Given the description of an element on the screen output the (x, y) to click on. 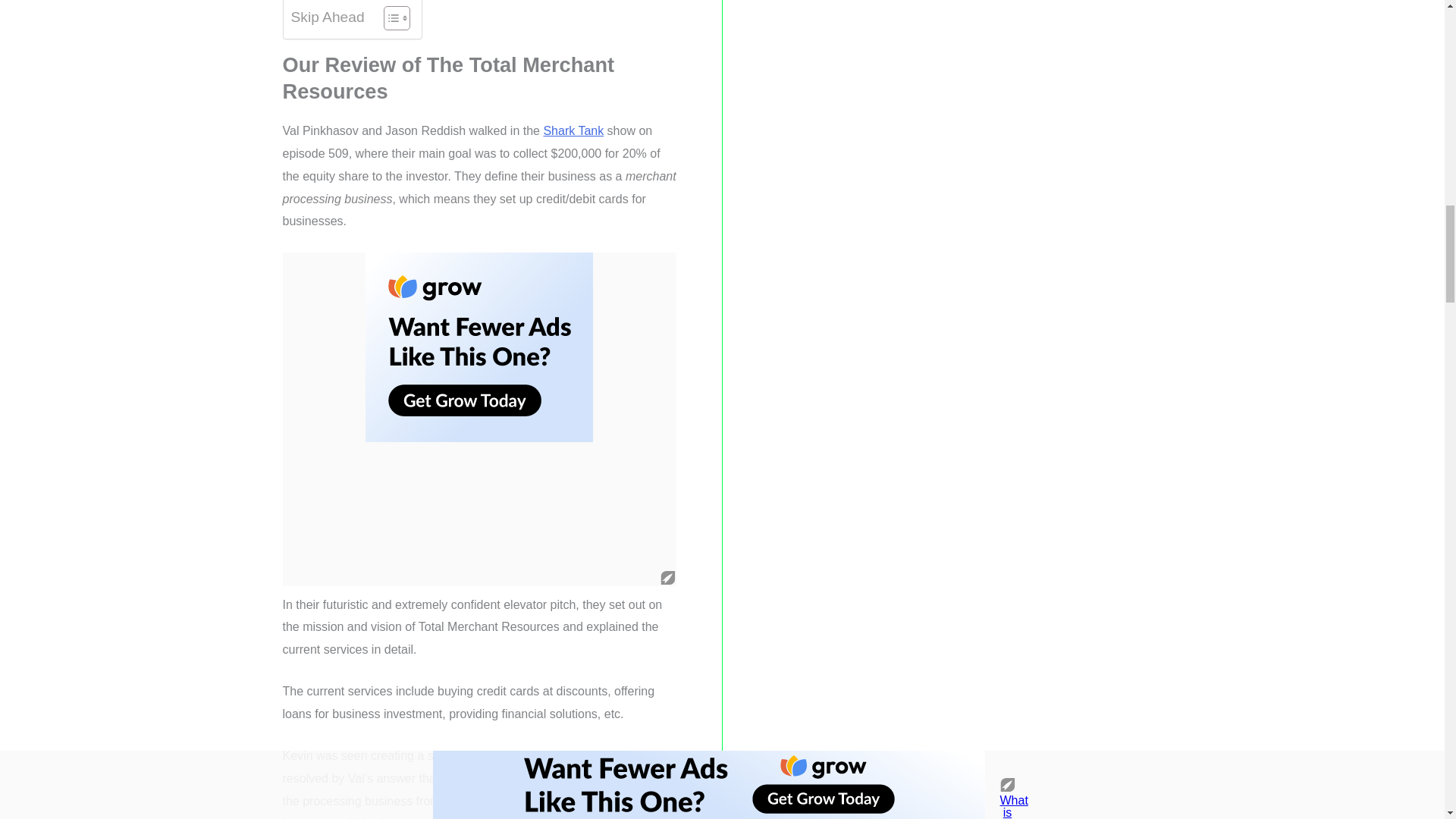
Shark Tank (573, 130)
Shark Tank (573, 130)
